Given the description of an element on the screen output the (x, y) to click on. 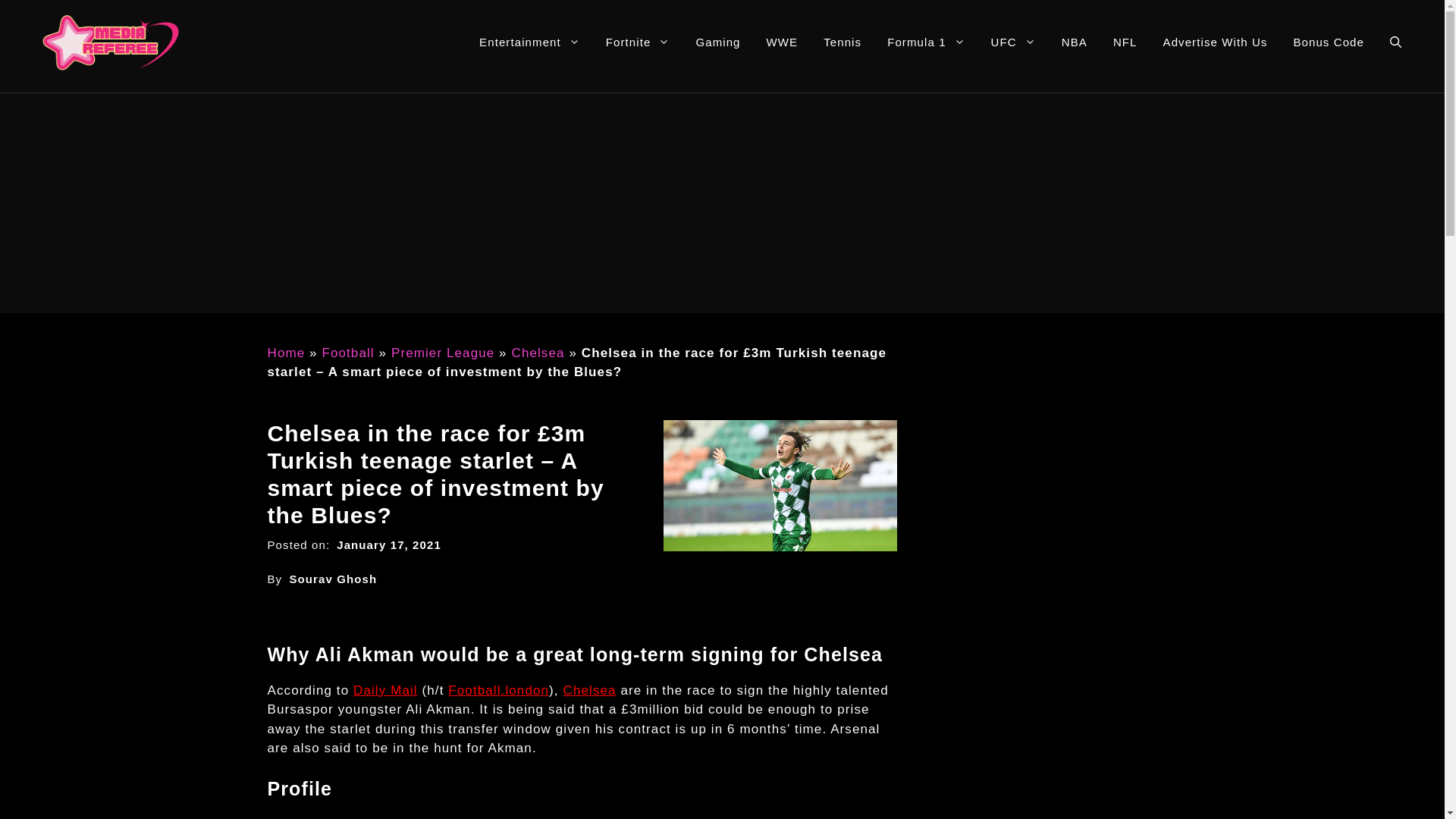
Premier League (443, 352)
Entertainment (528, 42)
Formula 1 (925, 42)
UFC (1013, 42)
Advertise With Us (1215, 42)
Football (347, 352)
Tennis (842, 42)
WWE (782, 42)
Fortnite (637, 42)
Home (285, 352)
